Given the description of an element on the screen output the (x, y) to click on. 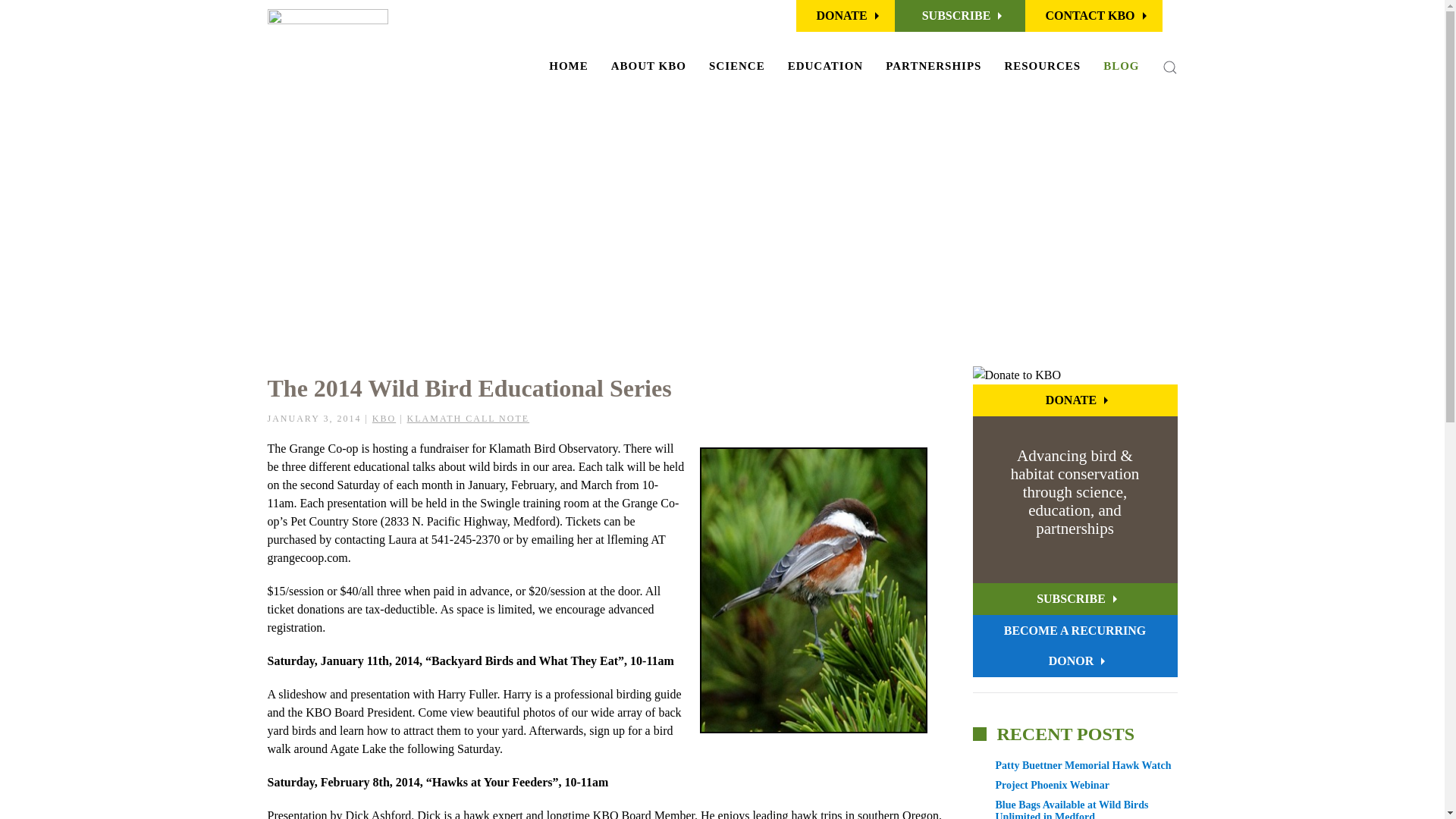
CONTACT KBO (1093, 15)
DONATE (844, 15)
SUBSCRIBE (960, 15)
